Given the description of an element on the screen output the (x, y) to click on. 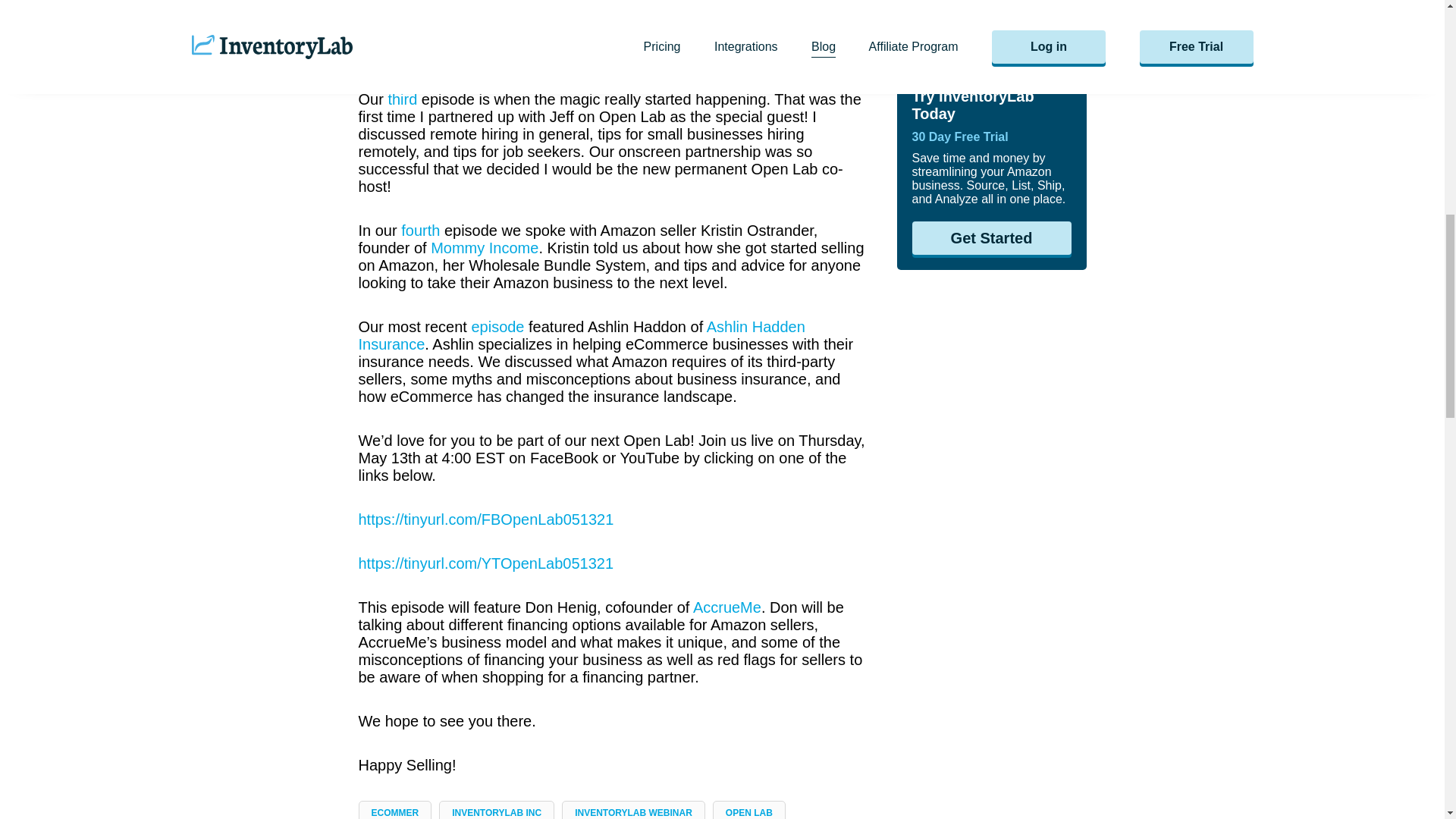
INVENTORYLAB WEBINAR (634, 812)
OPEN LAB (749, 812)
fourth (420, 230)
second (425, 5)
Mommy Income (484, 247)
third (401, 98)
AccrueMe (727, 606)
ECOMMER (395, 812)
INVENTORYLAB INC (496, 812)
Ashlin Hadden Insurance (581, 335)
